Given the description of an element on the screen output the (x, y) to click on. 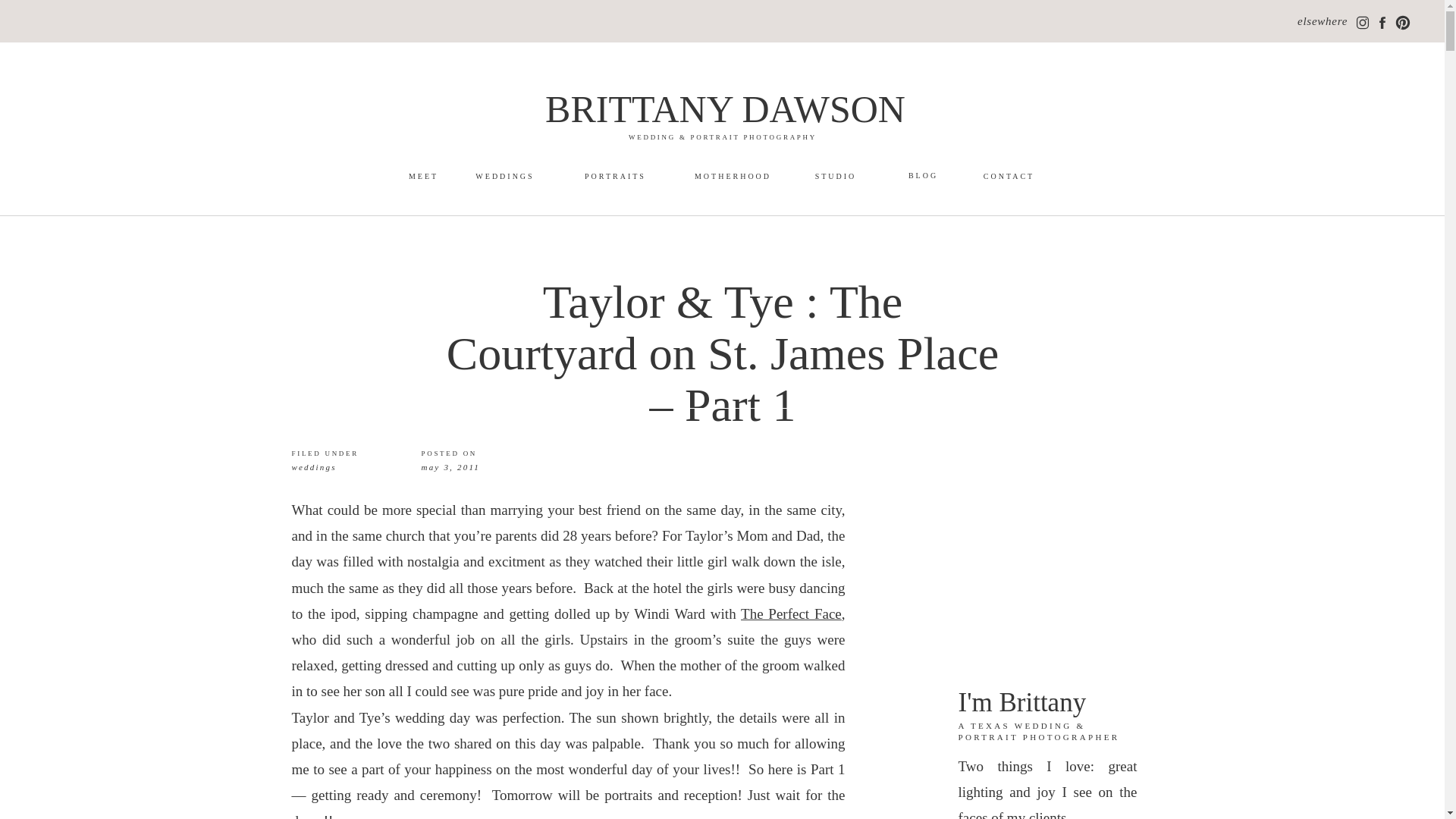
STUDIO (835, 176)
The Perfect Face (791, 613)
WEDDINGS (505, 176)
PORTRAITS (614, 176)
BLOG (922, 175)
BRITTANY DAWSON (725, 104)
MEET (423, 176)
CONTACT (1009, 176)
MOTHERHOOD (733, 176)
